Given the description of an element on the screen output the (x, y) to click on. 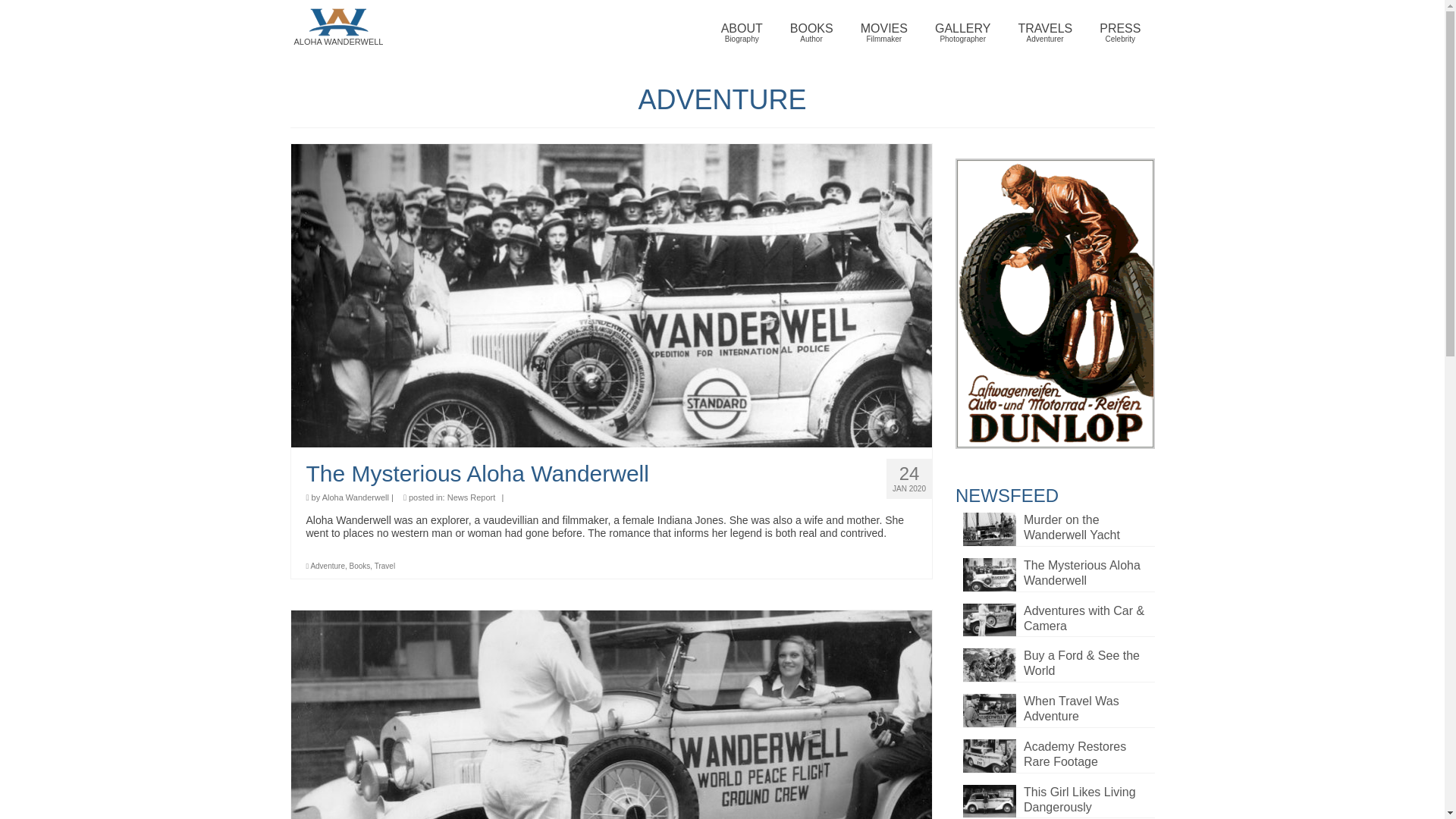
Motion Picture Filmography (884, 32)
Photo Gallery (741, 32)
News Report (962, 32)
Adventure (471, 497)
Aloha Wanderwell (327, 565)
News and Press Articles (354, 497)
Books (811, 32)
Biography (1120, 32)
The Mysterious Aloha Wanderwell (962, 32)
Expedition Maps (360, 565)
Travel (1120, 32)
